Given the description of an element on the screen output the (x, y) to click on. 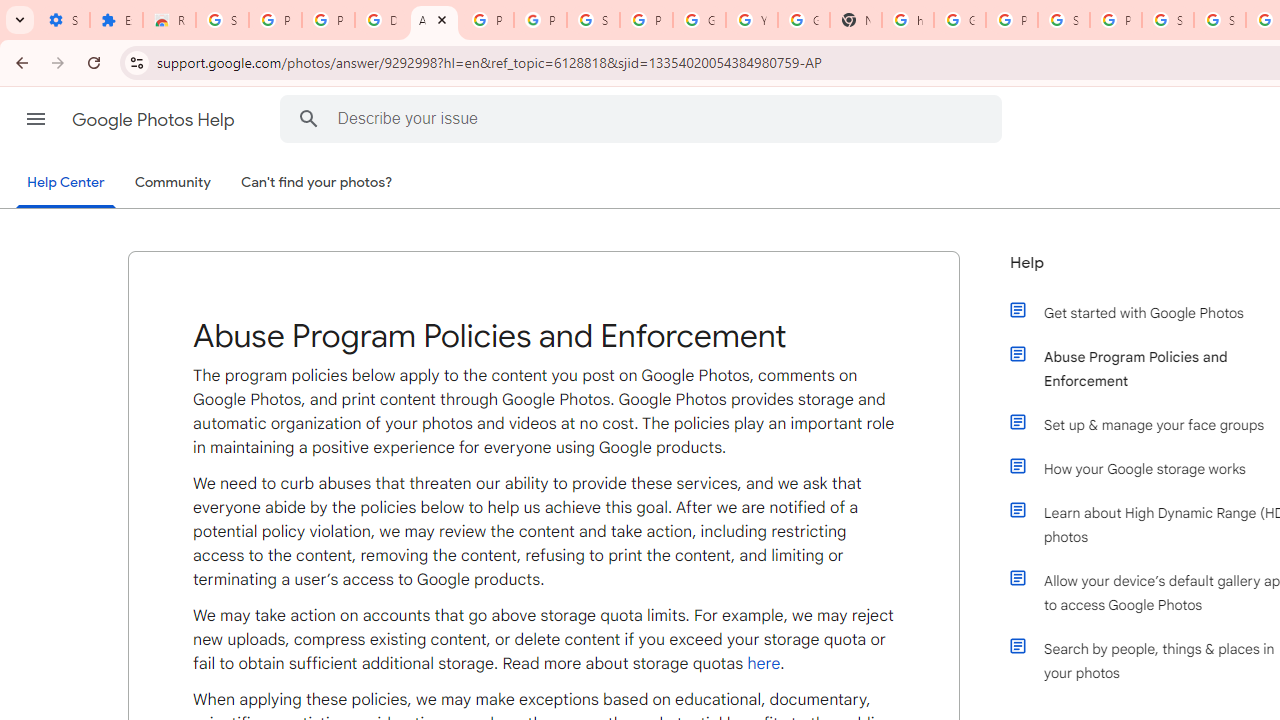
Reviews: Helix Fruit Jump Arcade Game (169, 20)
Can't find your photos? (317, 183)
New Tab (855, 20)
Sign in - Google Accounts (222, 20)
https://scholar.google.com/ (907, 20)
Sign in - Google Accounts (1219, 20)
